Given the description of an element on the screen output the (x, y) to click on. 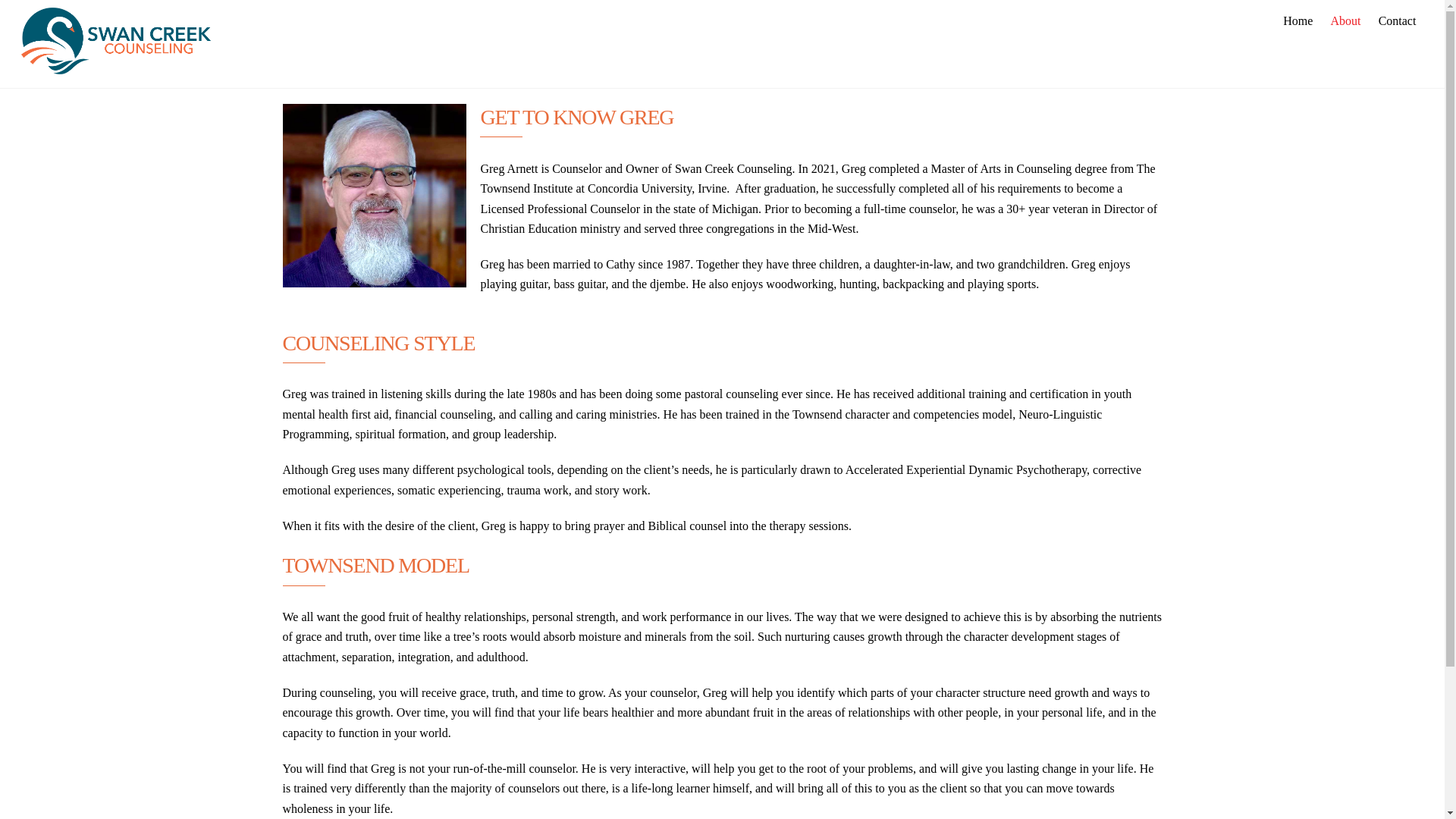
Contact (1397, 21)
Home (1298, 21)
Swan Creek Counseling (116, 67)
About (1345, 21)
logo-01 (116, 40)
